Given the description of an element on the screen output the (x, y) to click on. 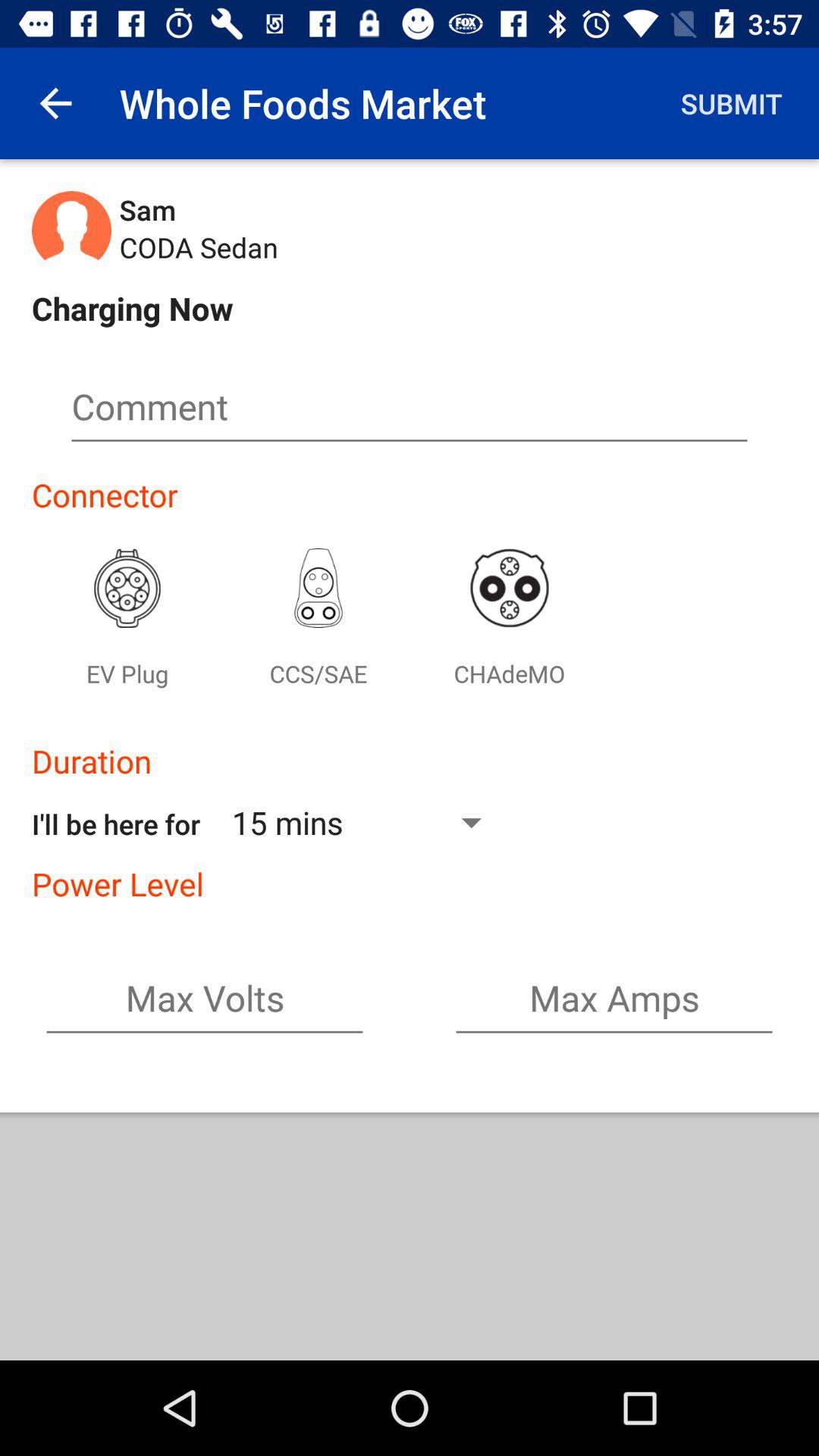
fill in the comment box (409, 412)
